Given the description of an element on the screen output the (x, y) to click on. 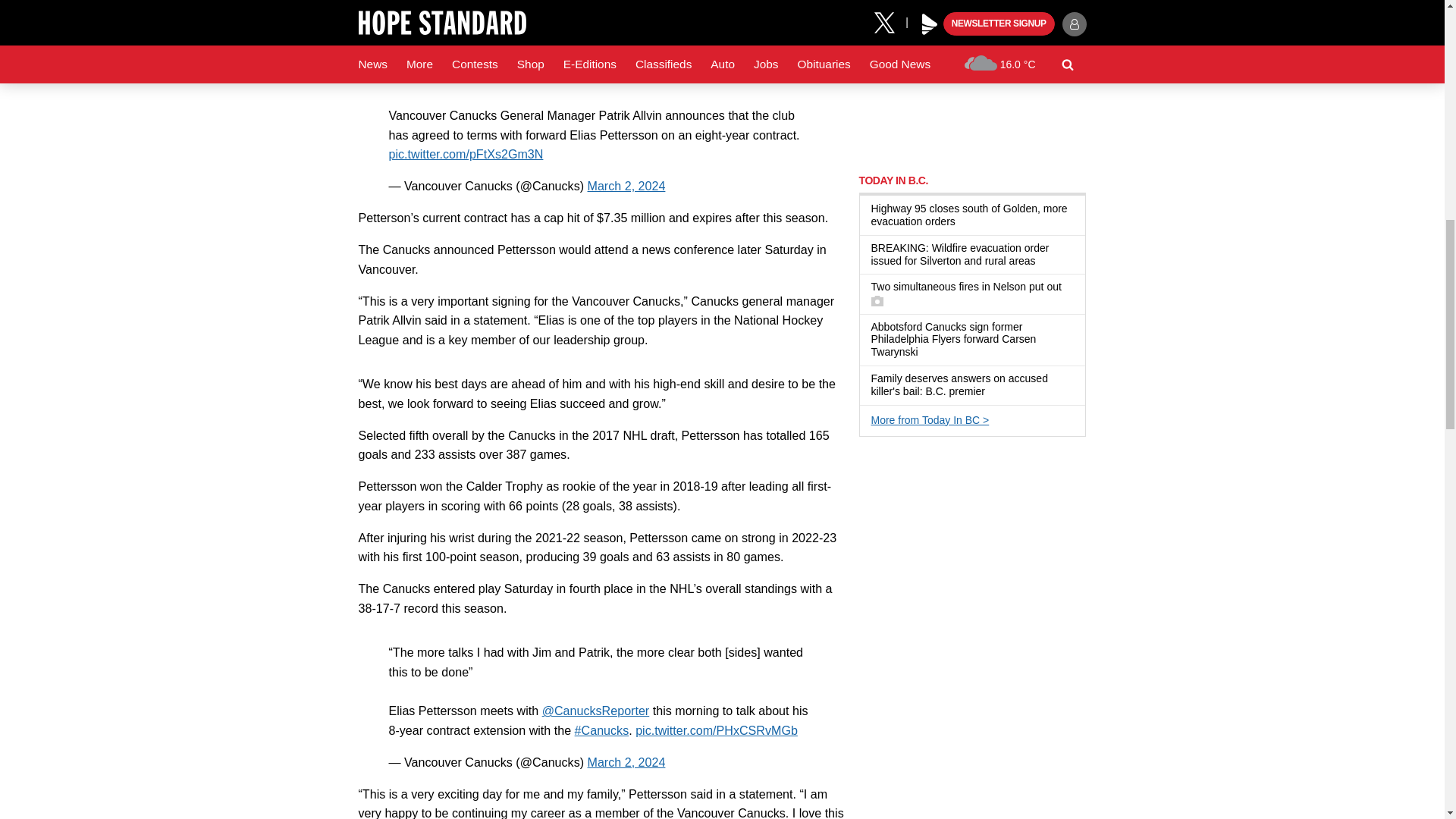
3rd party ad content (972, 79)
3rd party ad content (972, 546)
Has a gallery (876, 300)
